Given the description of an element on the screen output the (x, y) to click on. 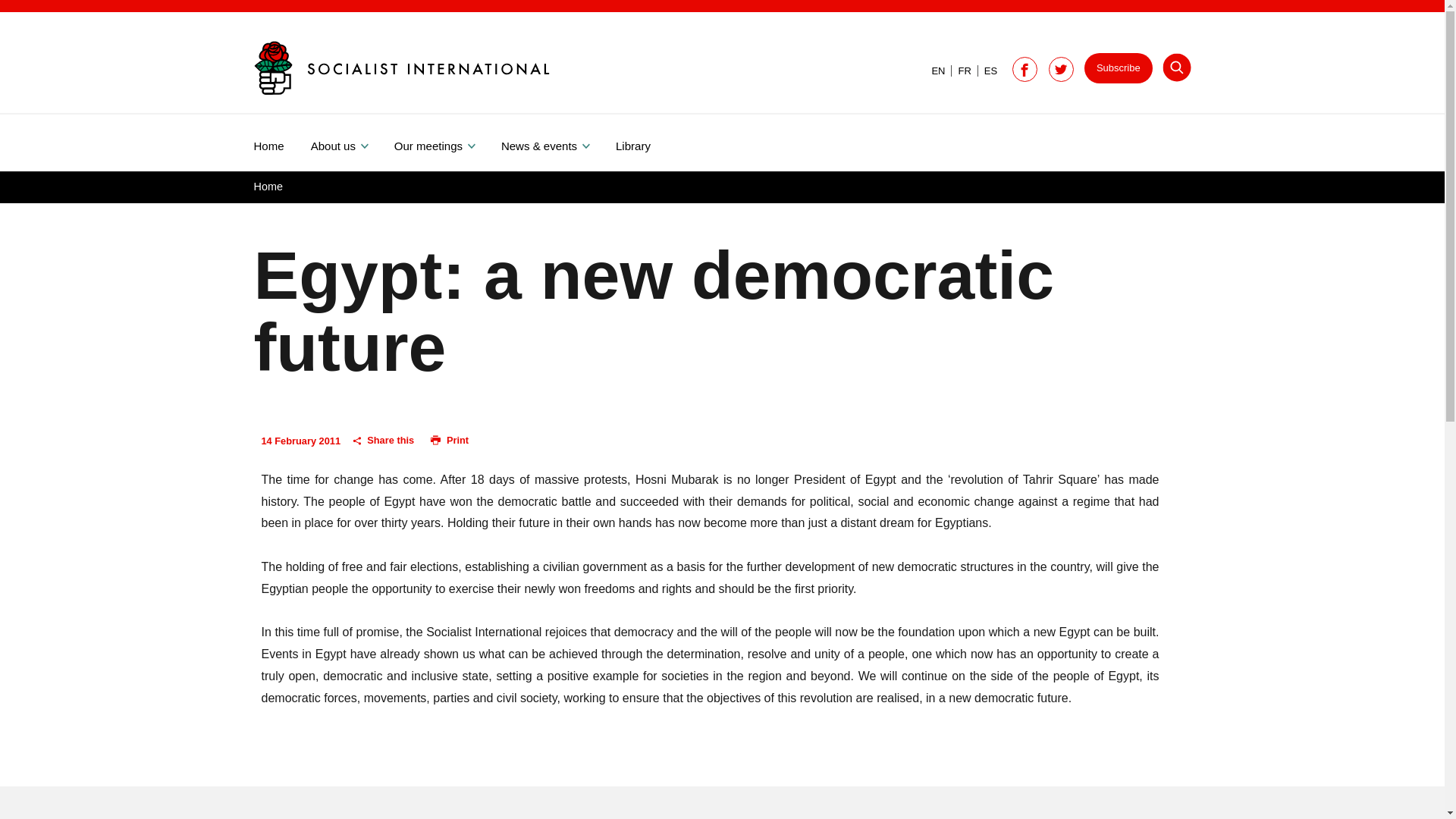
About us (352, 142)
Follow Socialist International on Twitter (1061, 69)
Home (267, 186)
Socialist International on Facebook (1024, 69)
Our meetings (447, 142)
Library (646, 142)
Subscribe (1118, 67)
Home (281, 142)
